Given the description of an element on the screen output the (x, y) to click on. 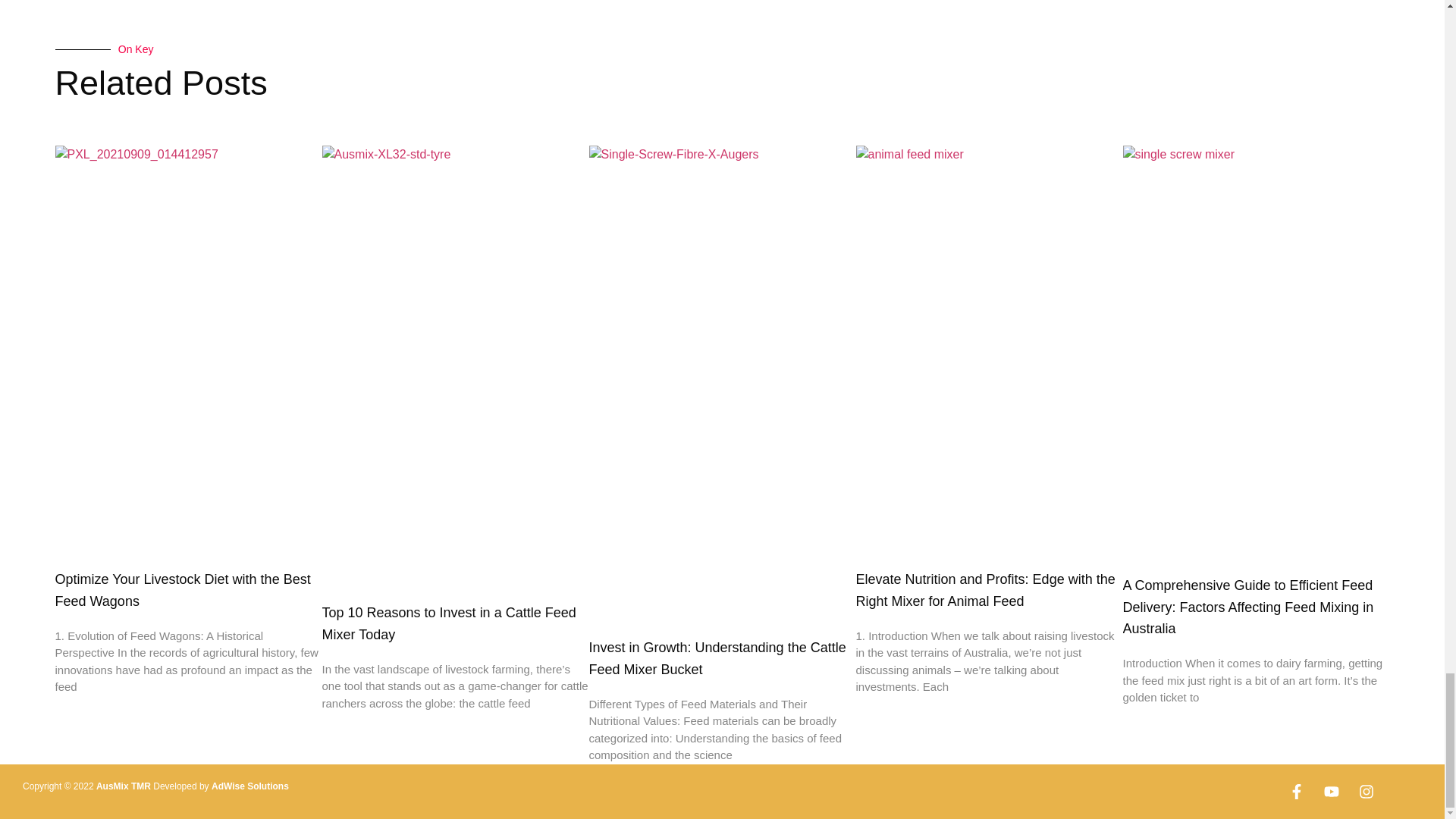
Optimize Your Livestock Diet with the Best Feed Wagons (182, 590)
AdWise Solutions (249, 786)
Top 10 Reasons to Invest in a Cattle Feed Mixer Today (448, 623)
Invest in Growth: Understanding the Cattle Feed Mixer Bucket (716, 658)
